Given the description of an element on the screen output the (x, y) to click on. 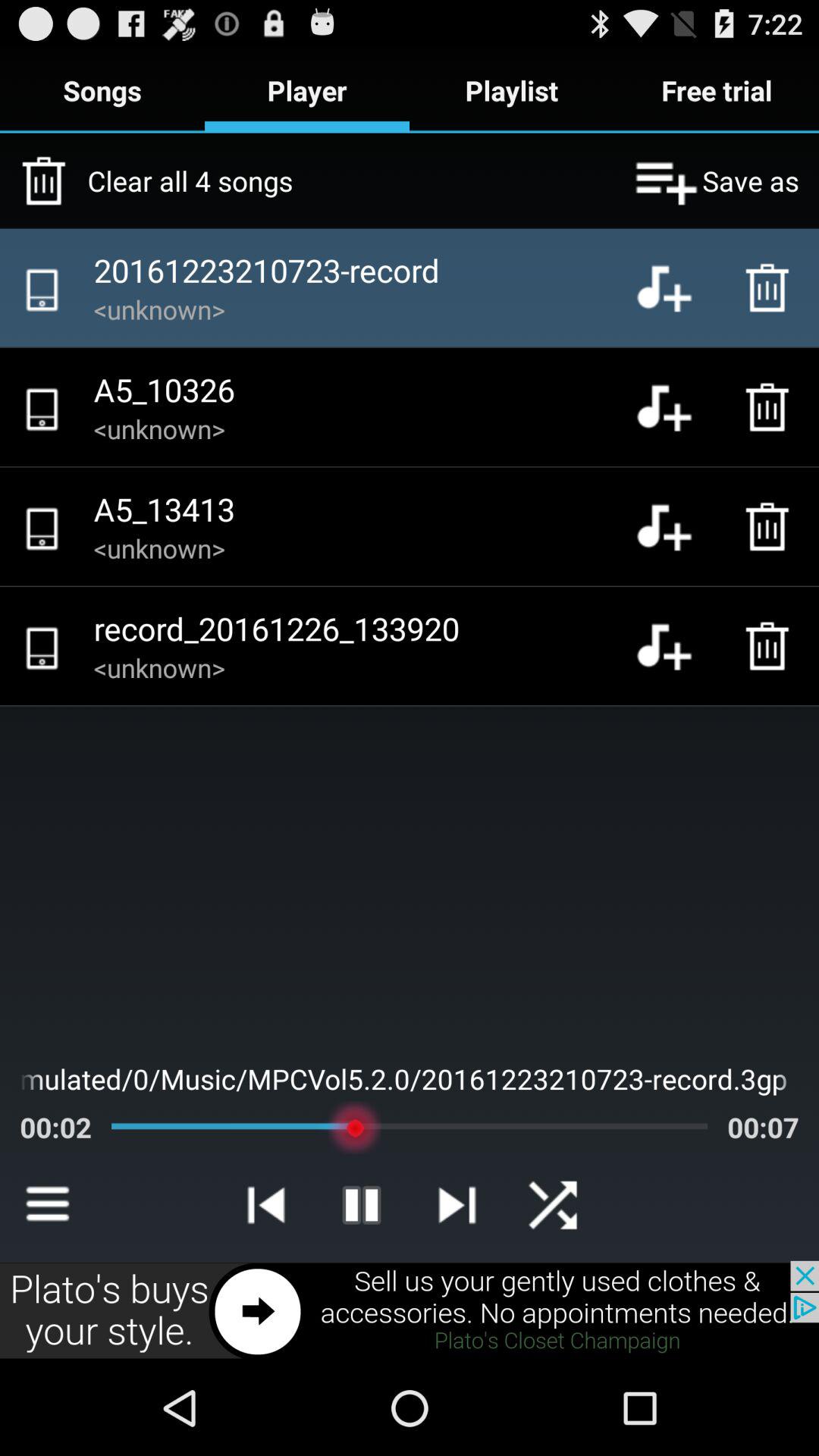
add to playlist (675, 407)
